Given the description of an element on the screen output the (x, y) to click on. 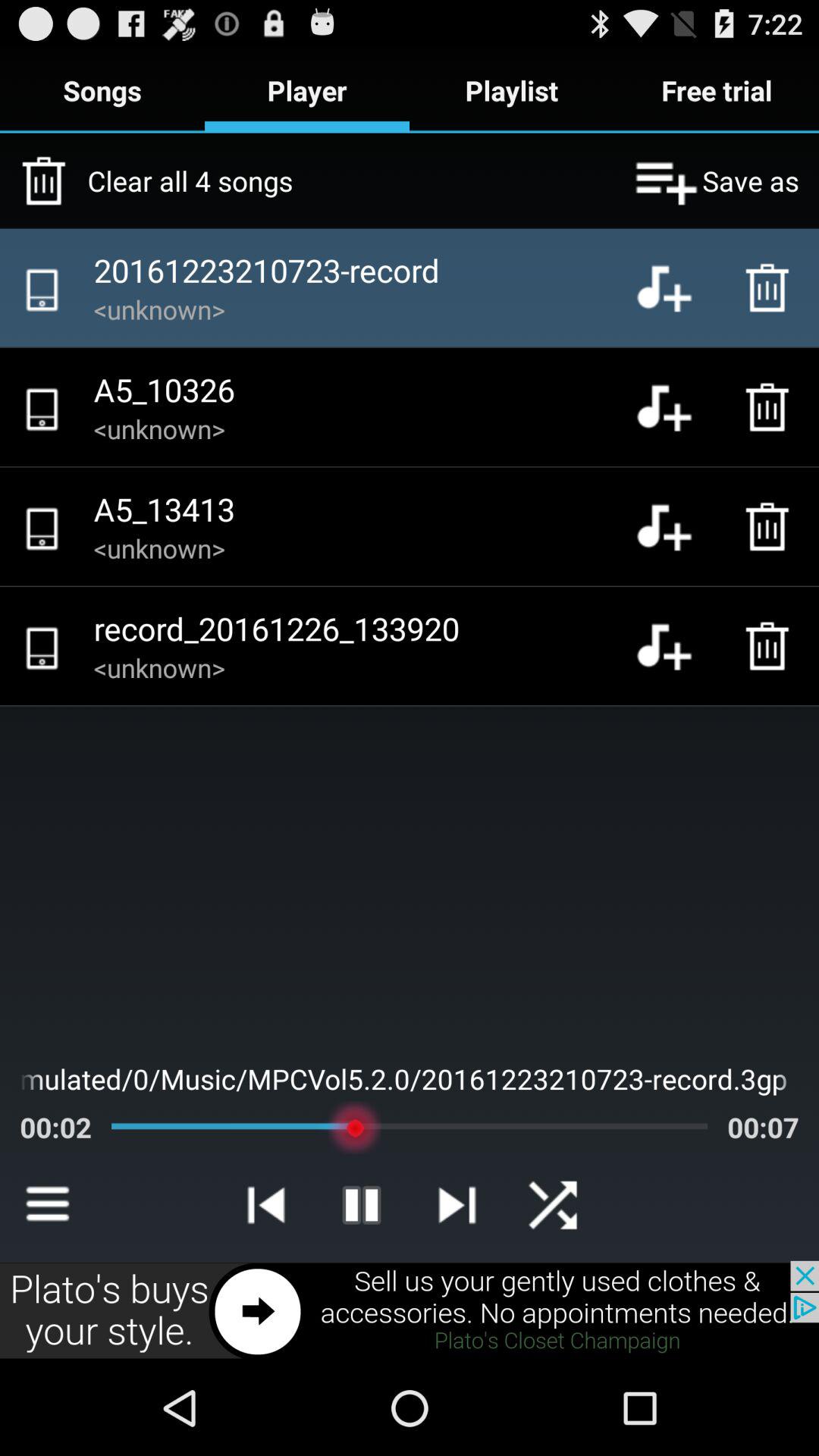
add to playlist (675, 407)
